Given the description of an element on the screen output the (x, y) to click on. 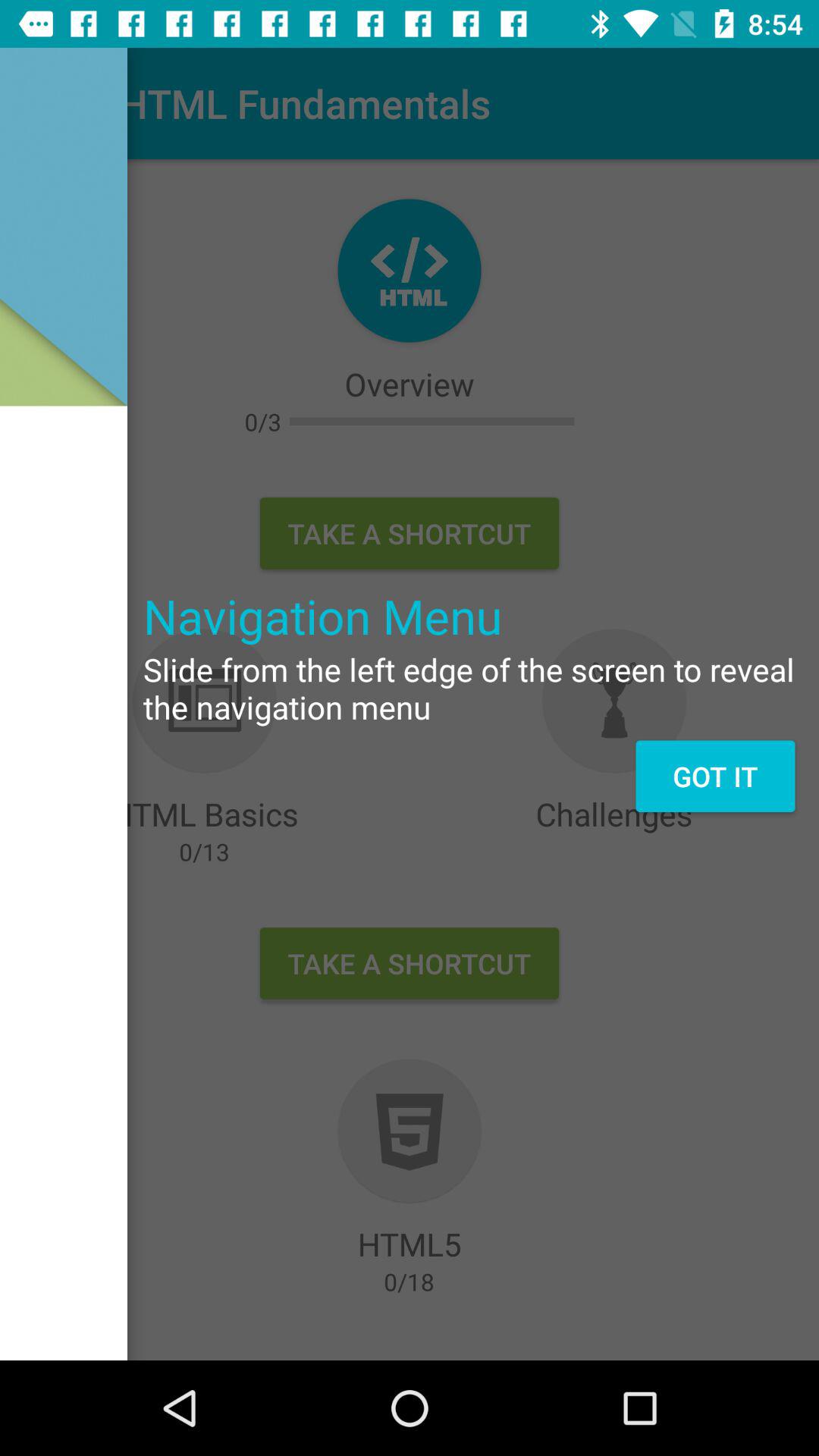
launch item below the slide from the (715, 776)
